Given the description of an element on the screen output the (x, y) to click on. 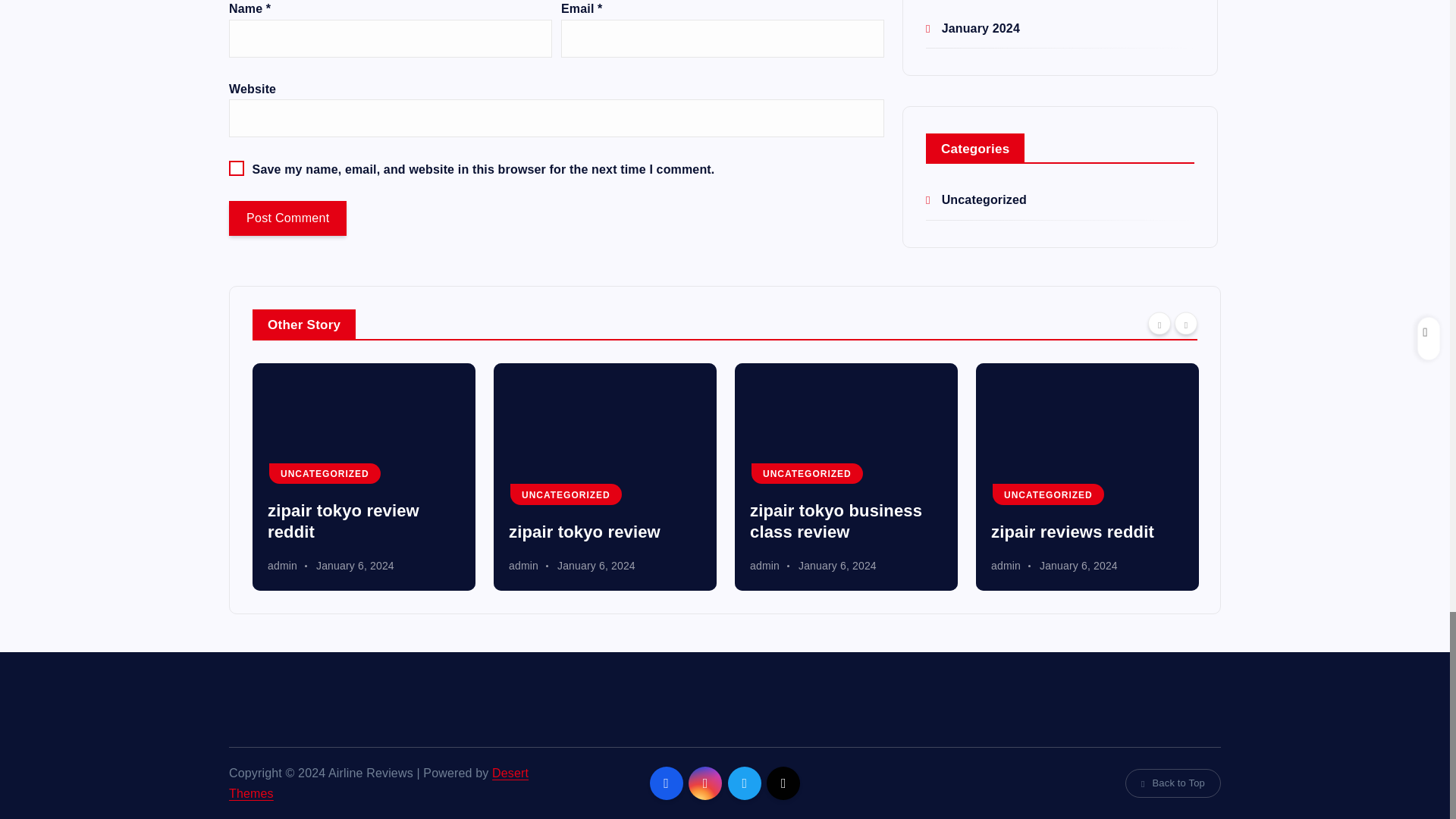
Post Comment (287, 217)
yes (236, 168)
Post Comment (287, 217)
